Given the description of an element on the screen output the (x, y) to click on. 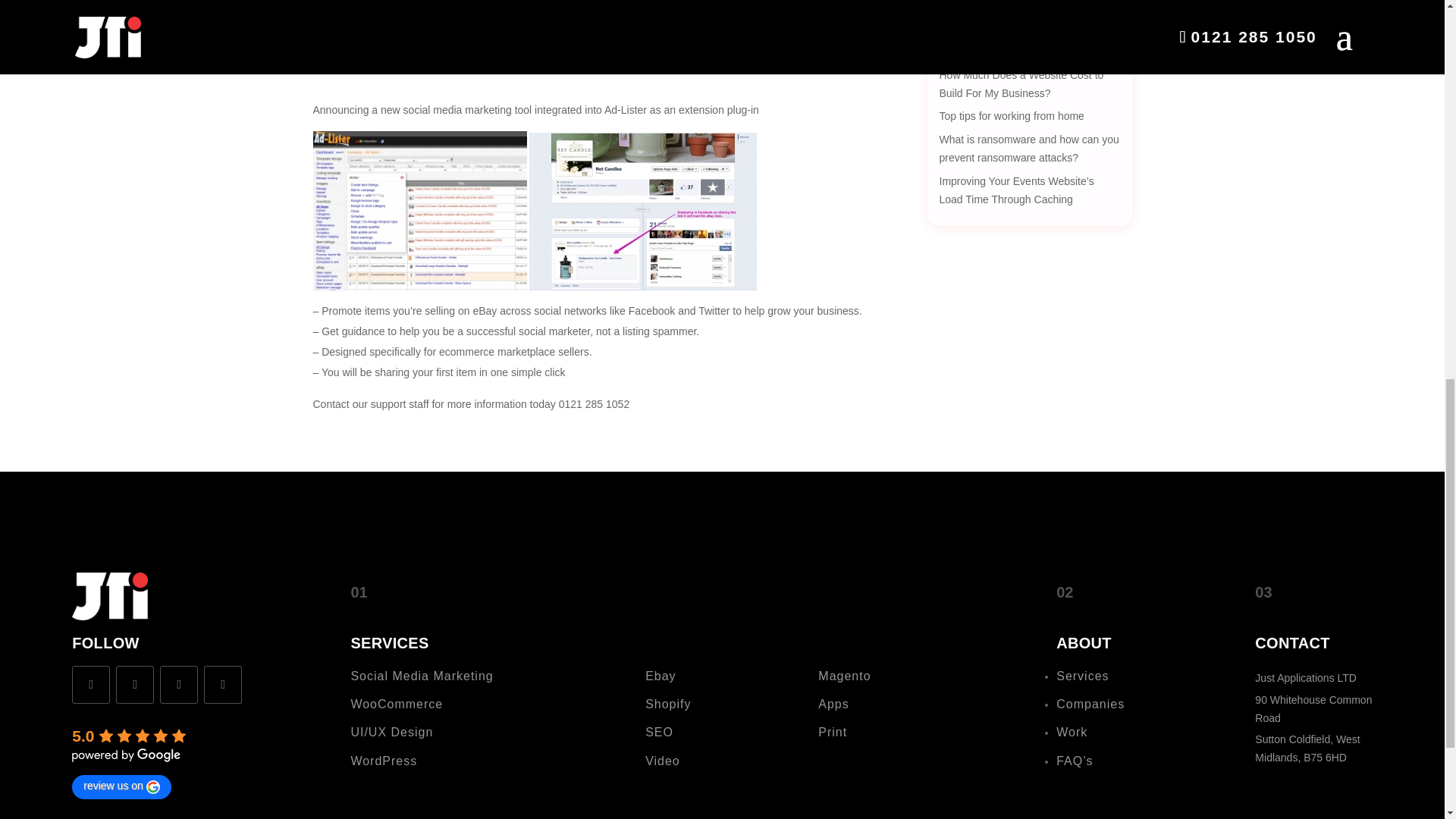
review us on (121, 786)
How Much Does a Website Cost to Build For My Business? (1021, 83)
Ebay (660, 675)
Top tips for working from home (1011, 115)
Social Media Marketing (421, 675)
Reclaiming Your Business Domain (1019, 51)
